Given the description of an element on the screen output the (x, y) to click on. 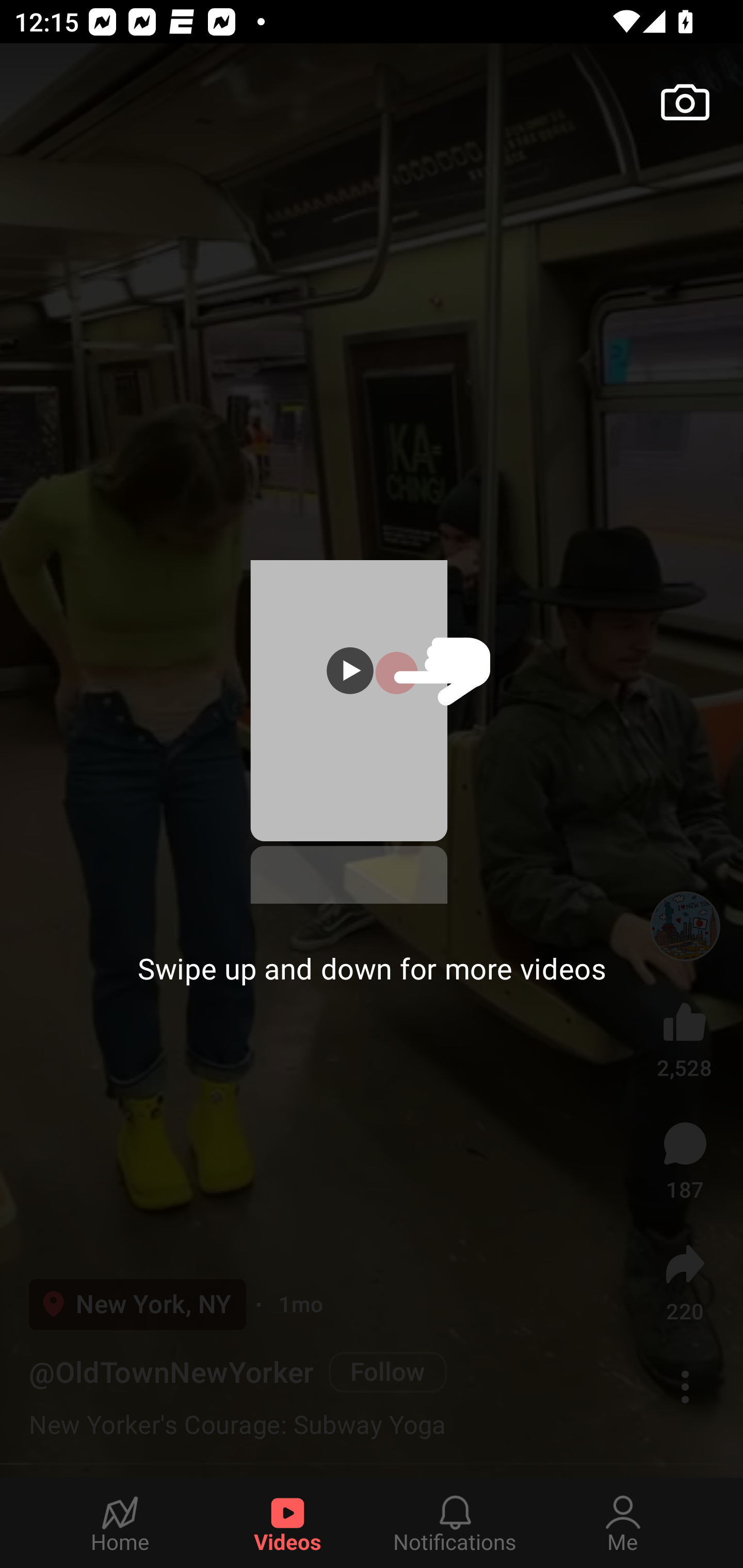
Home (119, 1522)
Notifications (455, 1522)
Me (622, 1522)
